Given the description of an element on the screen output the (x, y) to click on. 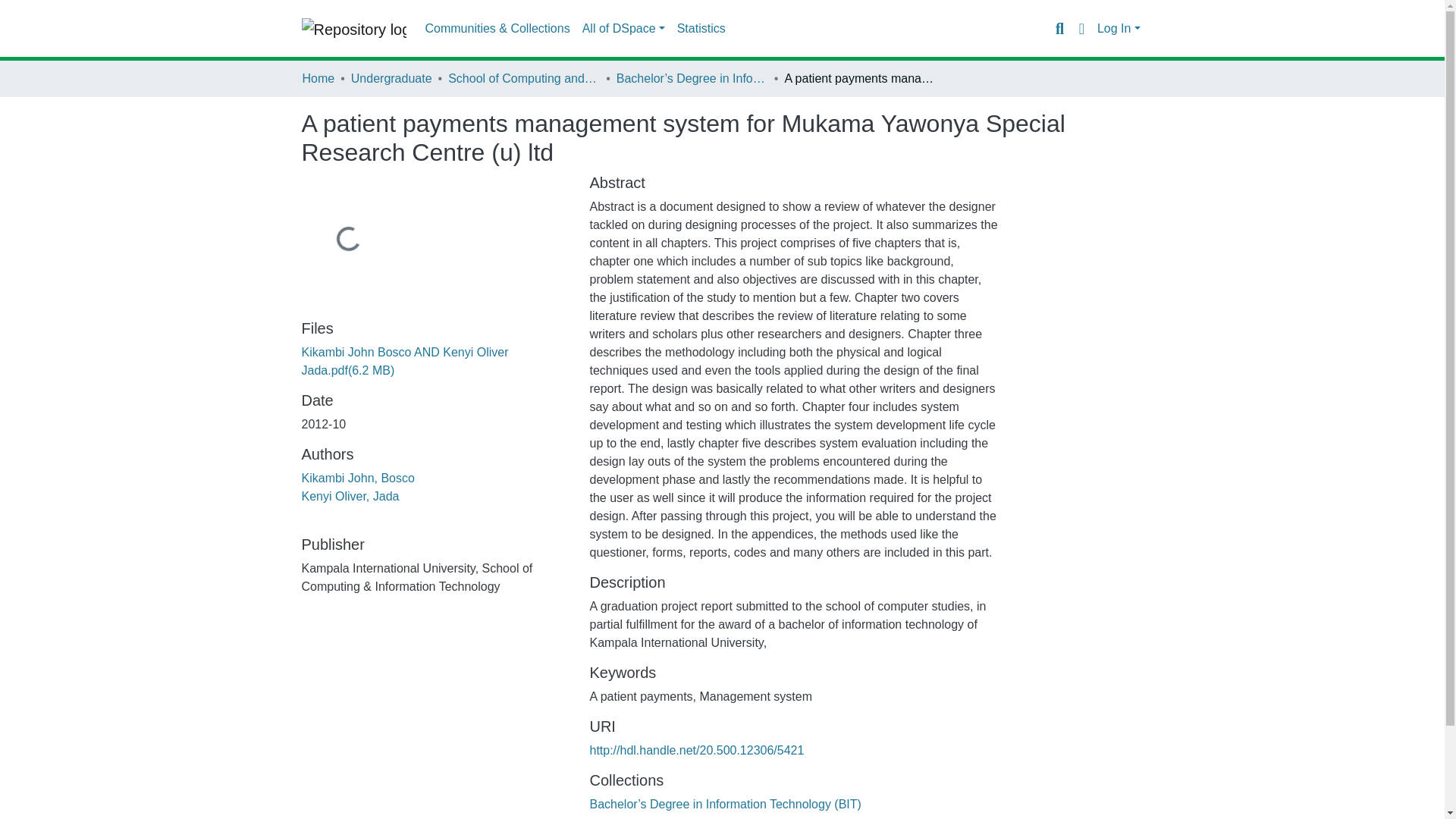
Home (317, 78)
All of DSpace (623, 28)
Log In (1118, 28)
Kenyi Oliver, Jada (349, 495)
Statistics (701, 28)
Kikambi John, Bosco (357, 477)
Language switch (1081, 28)
Search (1058, 28)
Statistics (701, 28)
School of Computing and Information Technology (523, 78)
Undergraduate (391, 78)
